Given the description of an element on the screen output the (x, y) to click on. 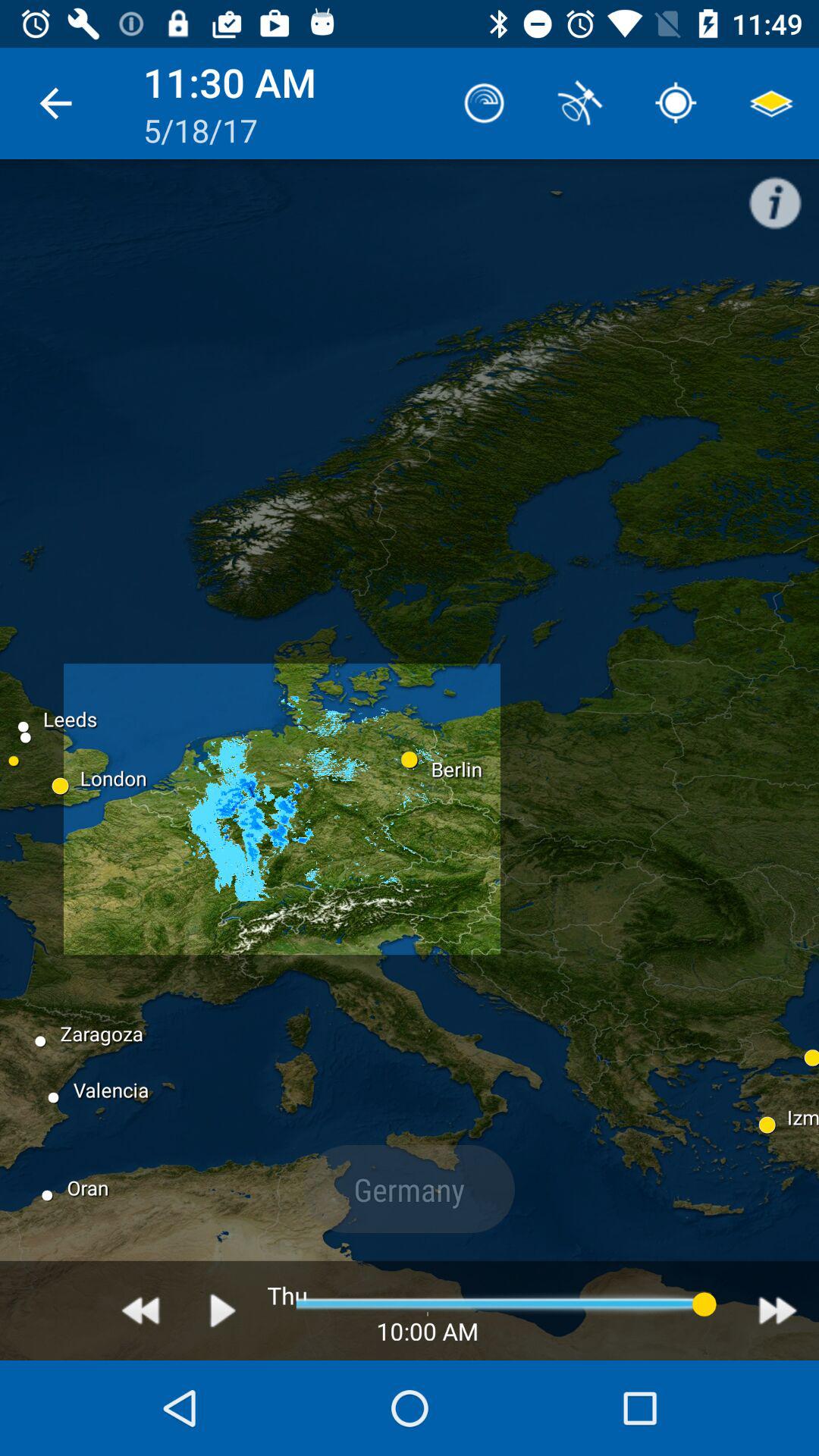
play (223, 1310)
